Given the description of an element on the screen output the (x, y) to click on. 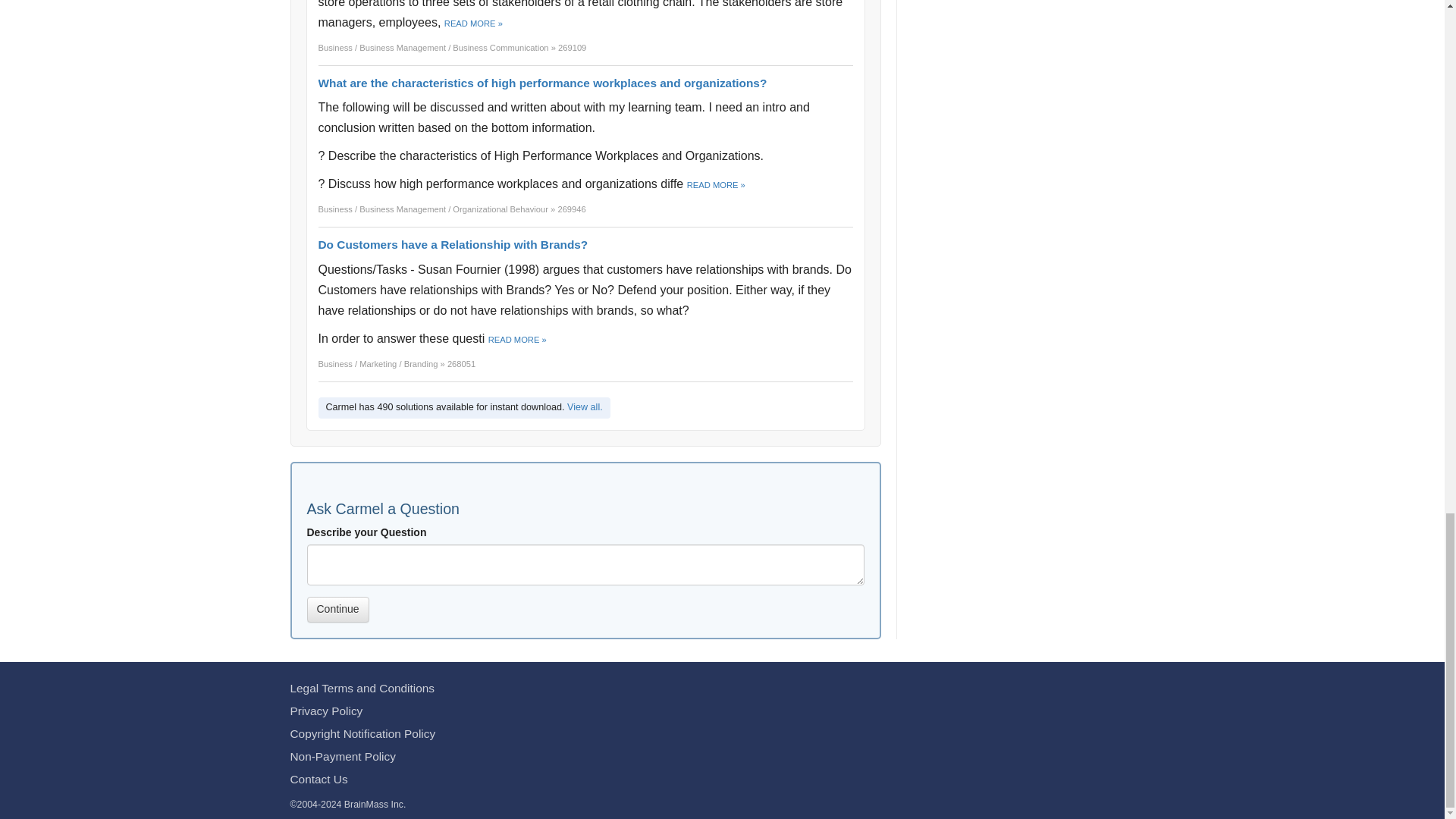
Legal Terms and Conditions (361, 687)
Non-Payment Policy (341, 756)
View all. (584, 407)
Copyright Notification Policy (362, 733)
Continue (336, 609)
Do Customers have a Relationship with Brands? (453, 244)
Privacy Policy (325, 710)
